Given the description of an element on the screen output the (x, y) to click on. 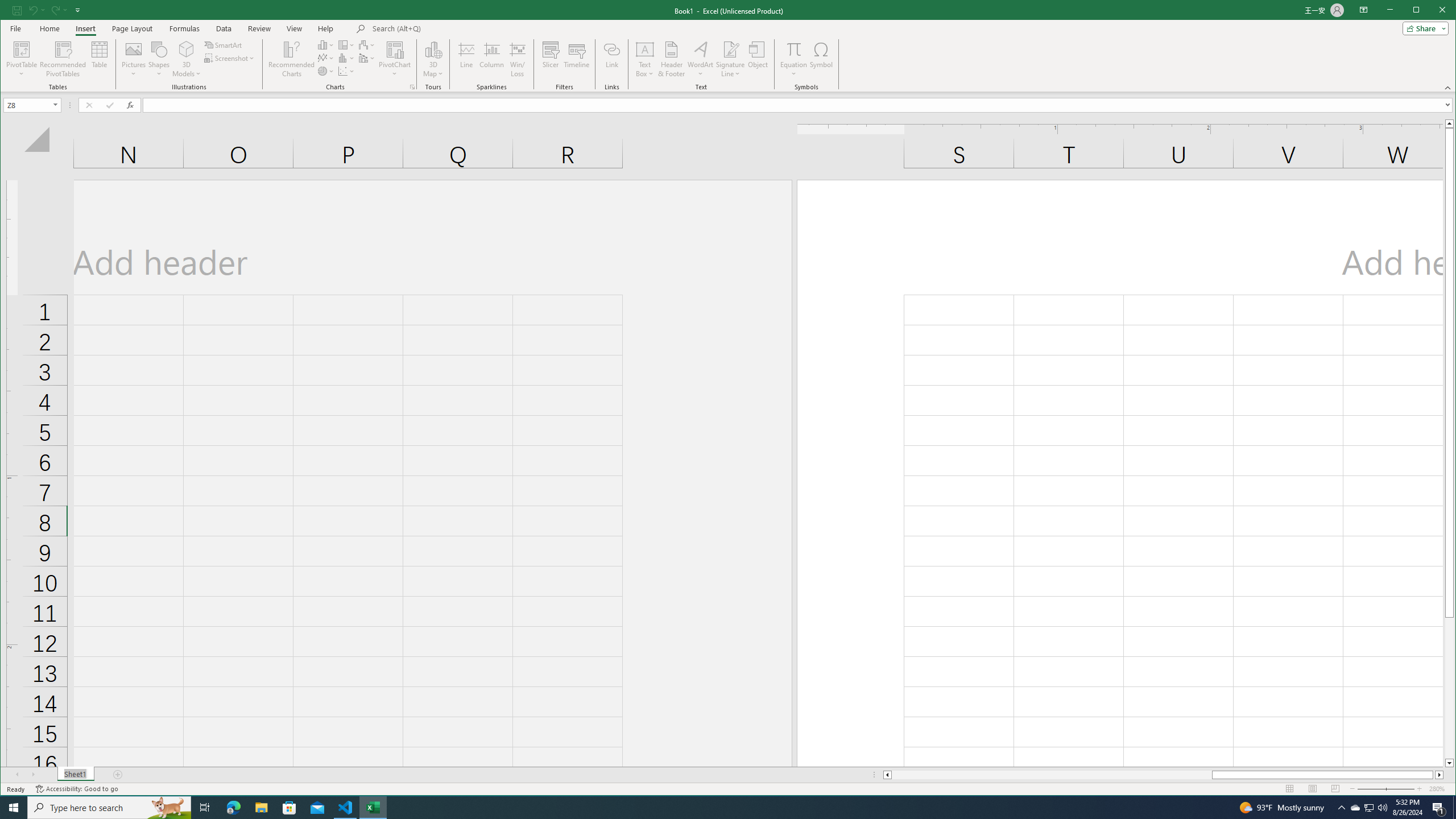
3D Map (432, 59)
WordArt (699, 59)
Link (611, 59)
Class: MsoCommandBar (728, 45)
Object... (757, 59)
Equation (793, 59)
3D Models (186, 59)
